Given the description of an element on the screen output the (x, y) to click on. 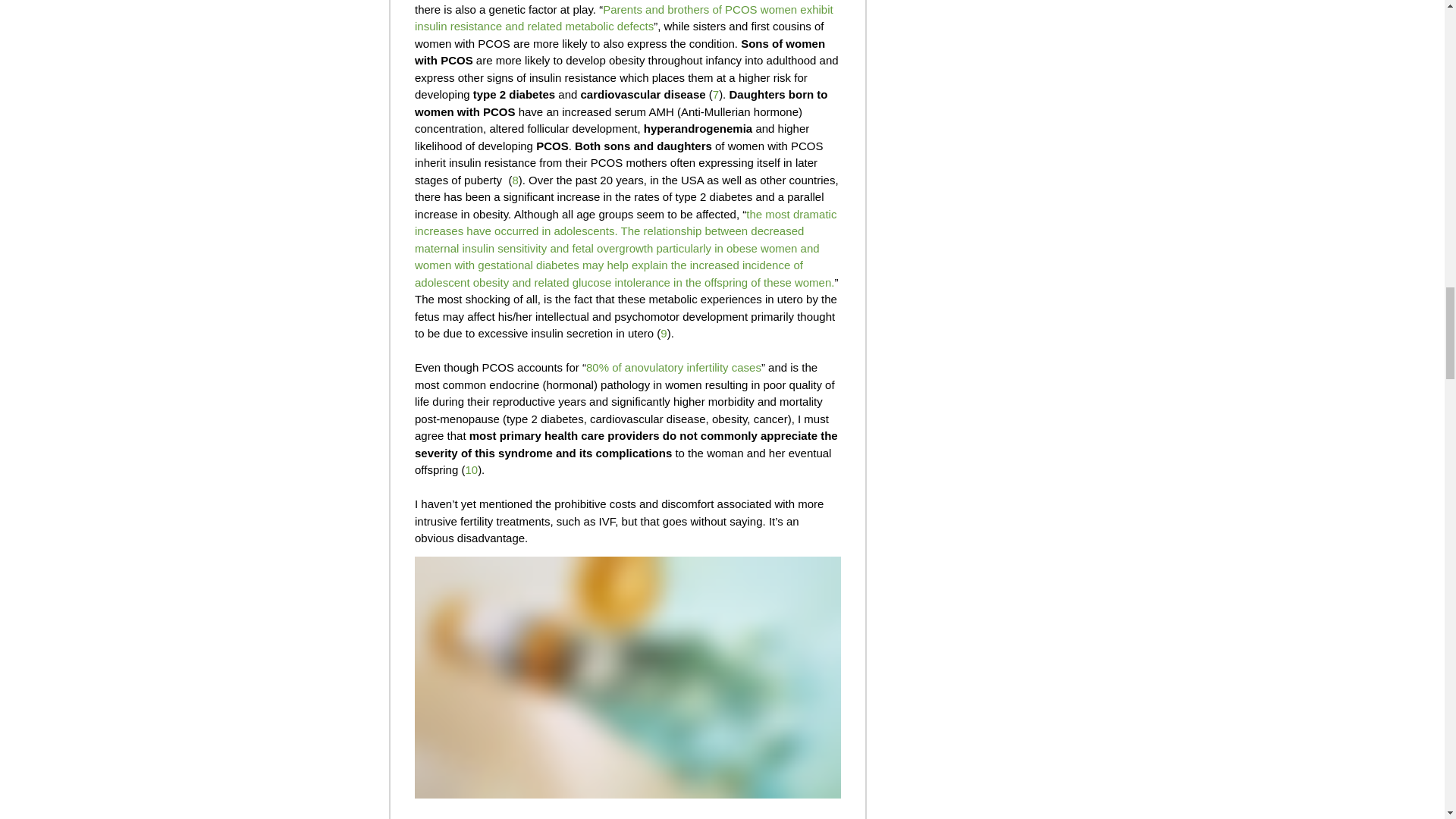
10 (470, 469)
